Given the description of an element on the screen output the (x, y) to click on. 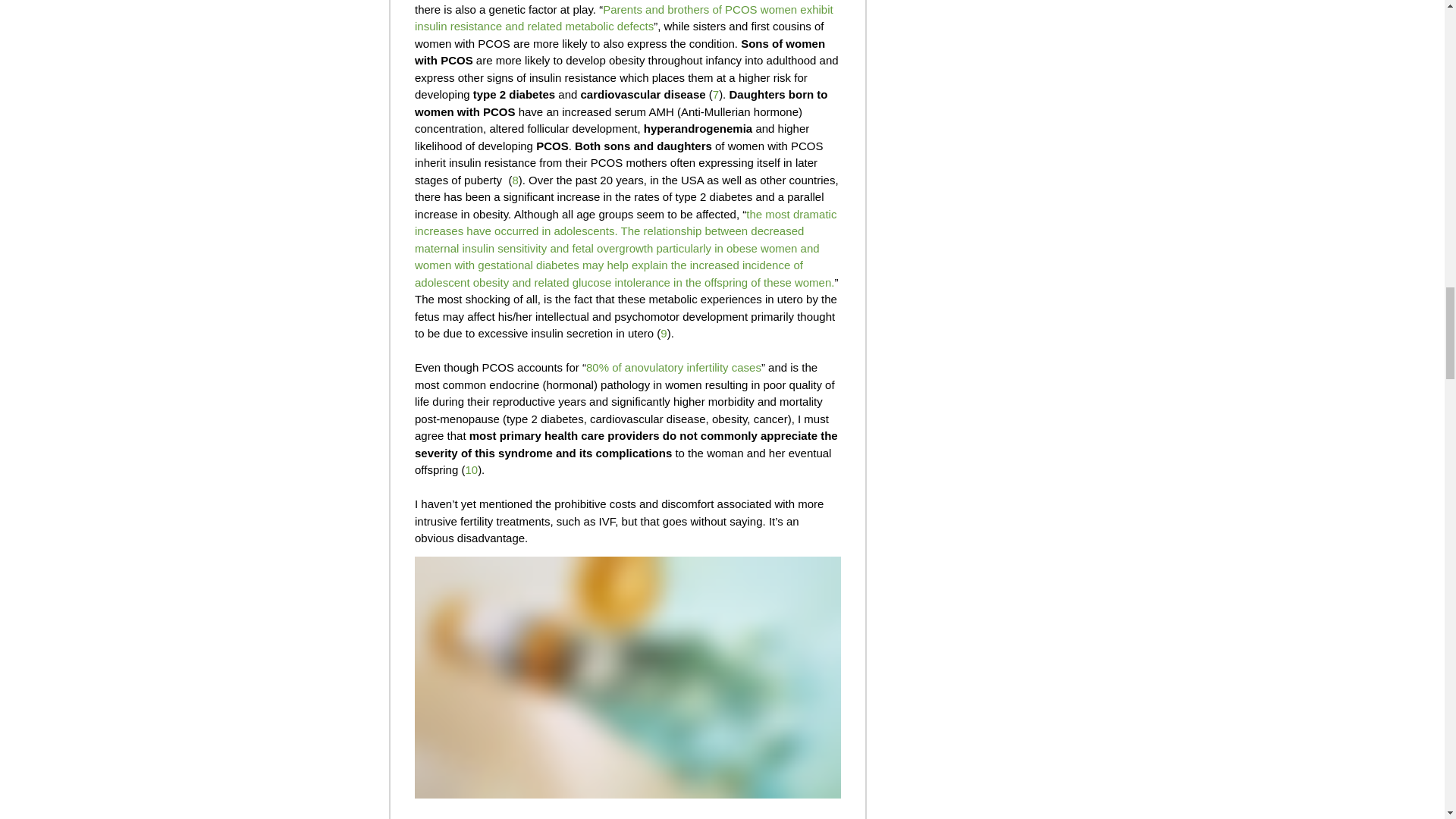
10 (470, 469)
